Given the description of an element on the screen output the (x, y) to click on. 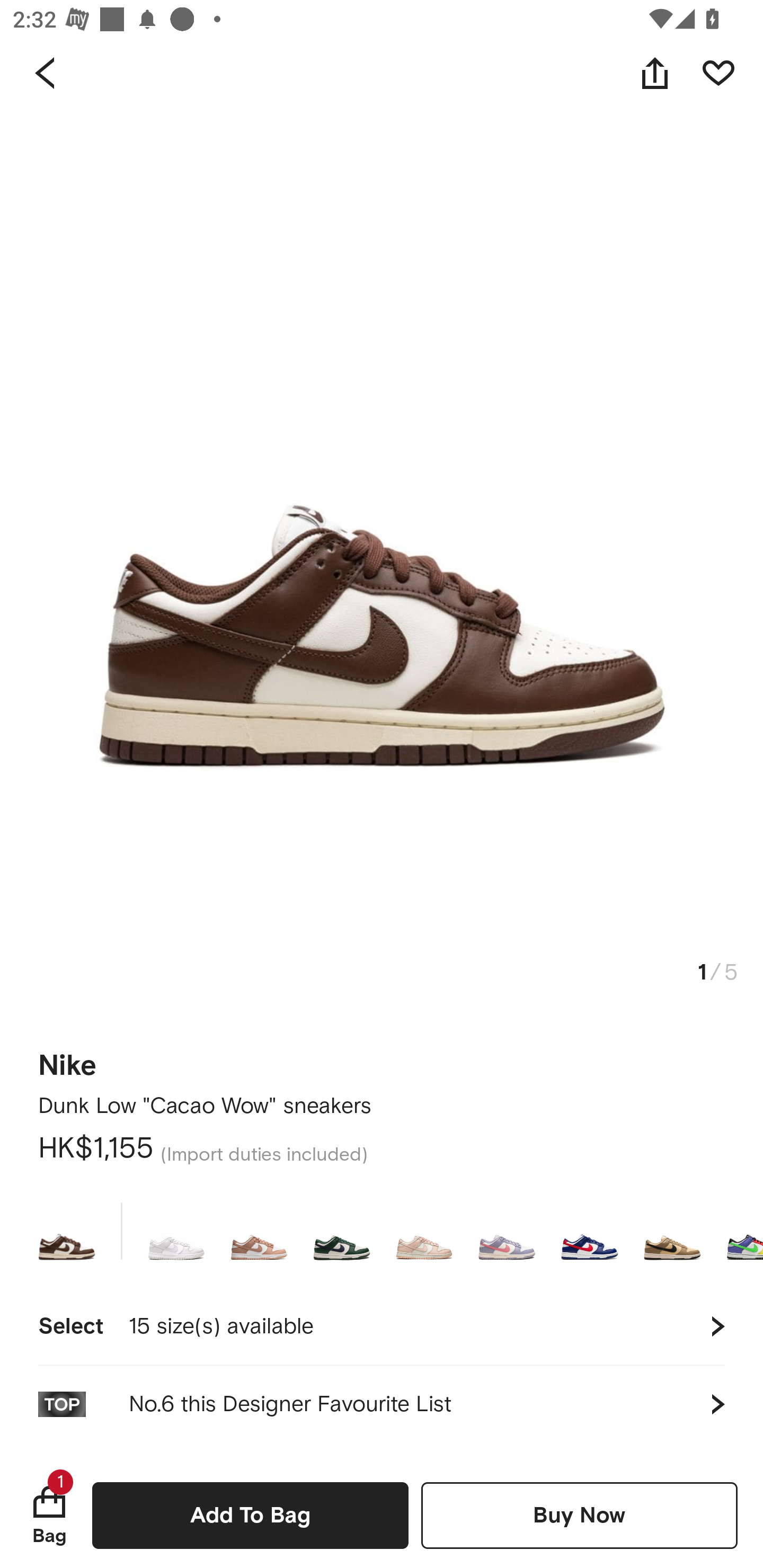
Nike (67, 1065)
Select 15 size(s) available (381, 1326)
No.6 this Designer Favourite List (381, 1403)
Bag 1 (49, 1515)
Add To Bag (250, 1515)
Buy Now (579, 1515)
